Given the description of an element on the screen output the (x, y) to click on. 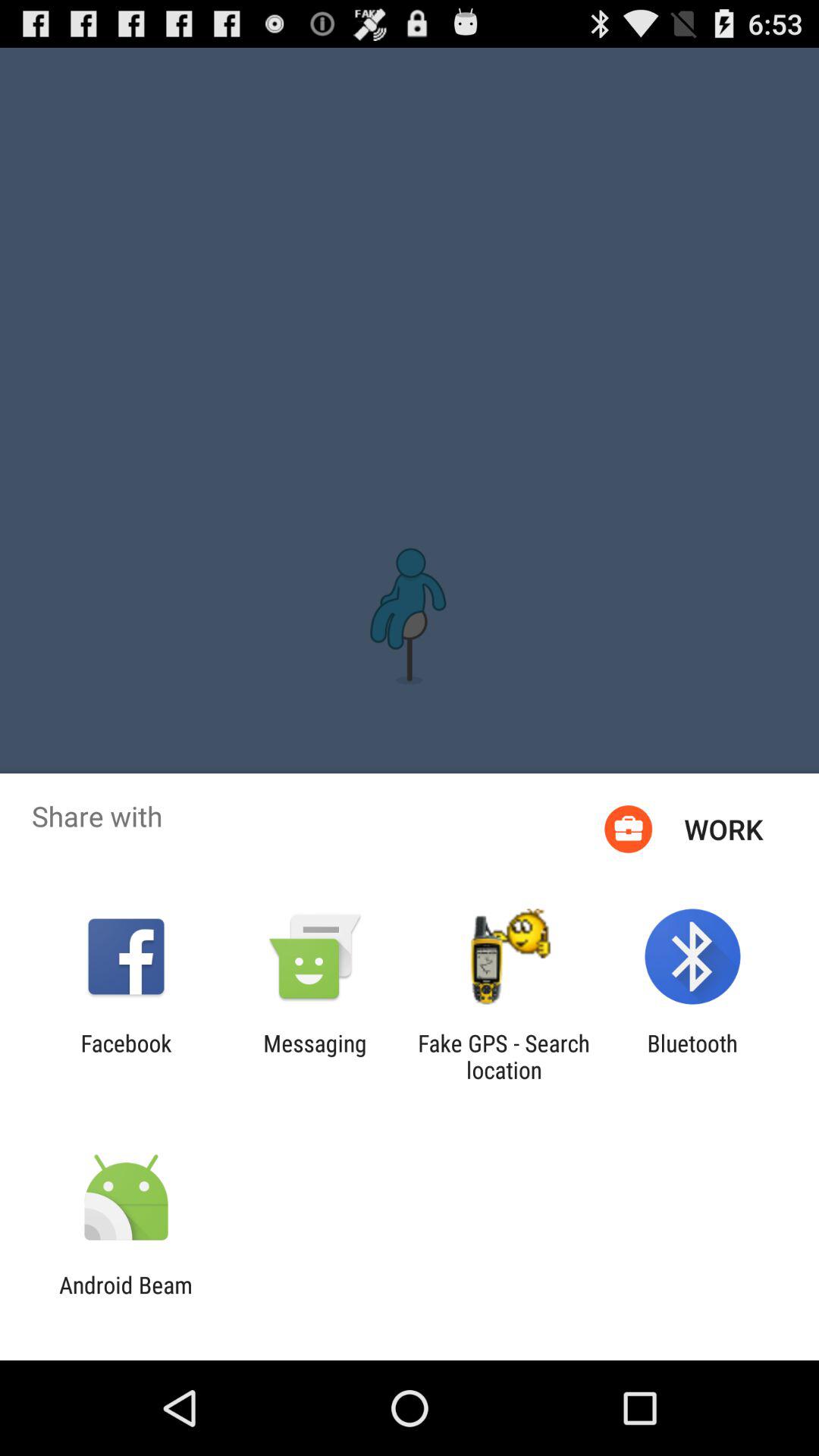
jump until the messaging icon (314, 1056)
